Given the description of an element on the screen output the (x, y) to click on. 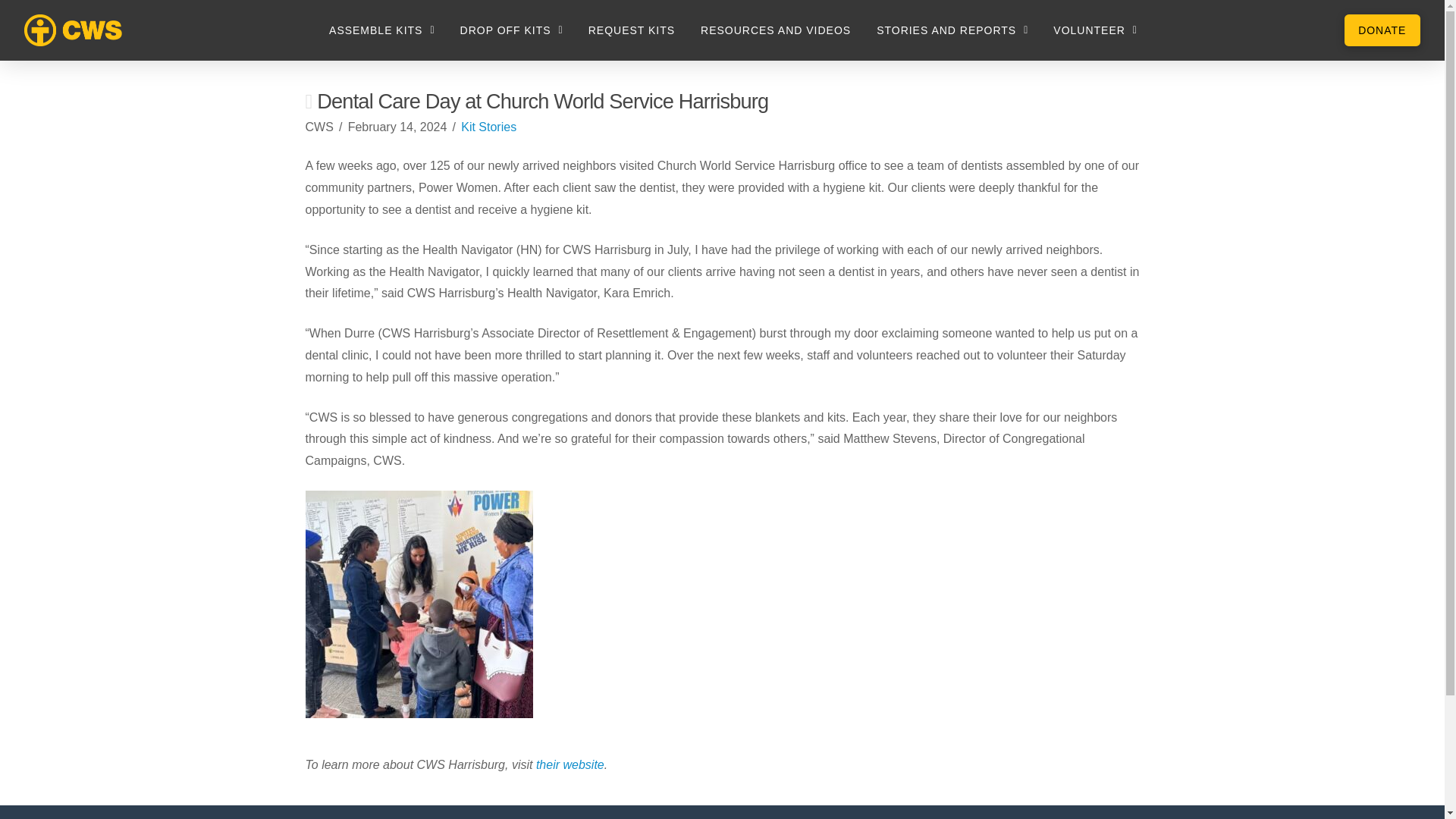
VOLUNTEER (1095, 30)
DROP OFF KITS (510, 30)
ASSEMBLE KITS (380, 30)
REQUEST KITS (631, 30)
RESOURCES AND VIDEOS (775, 30)
STORIES AND REPORTS (952, 30)
their website (569, 764)
DONATE (1382, 29)
Kit Stories (488, 126)
